Given the description of an element on the screen output the (x, y) to click on. 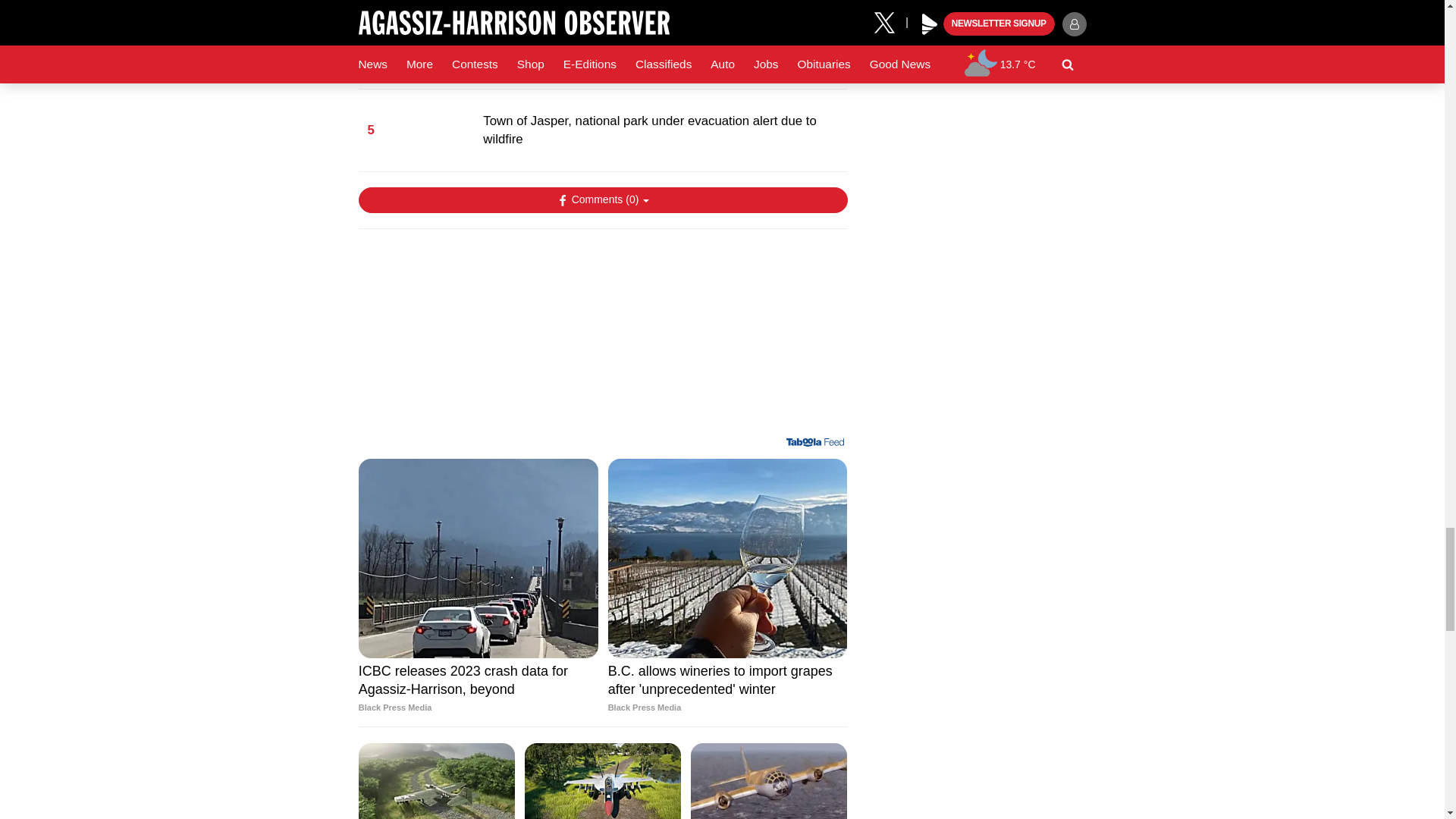
3rd party ad content (602, 339)
Show Comments (602, 199)
